Given the description of an element on the screen output the (x, y) to click on. 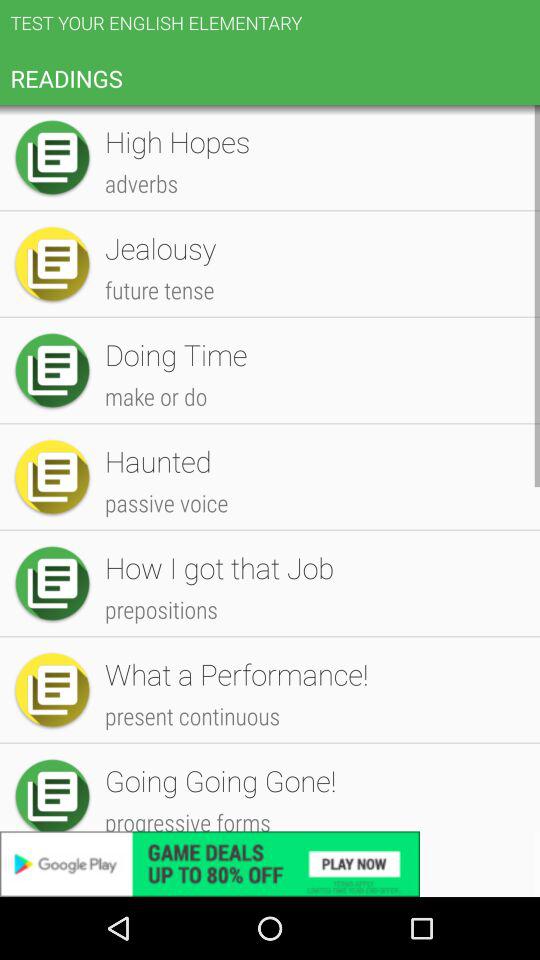
tap item below the test your english (311, 143)
